Given the description of an element on the screen output the (x, y) to click on. 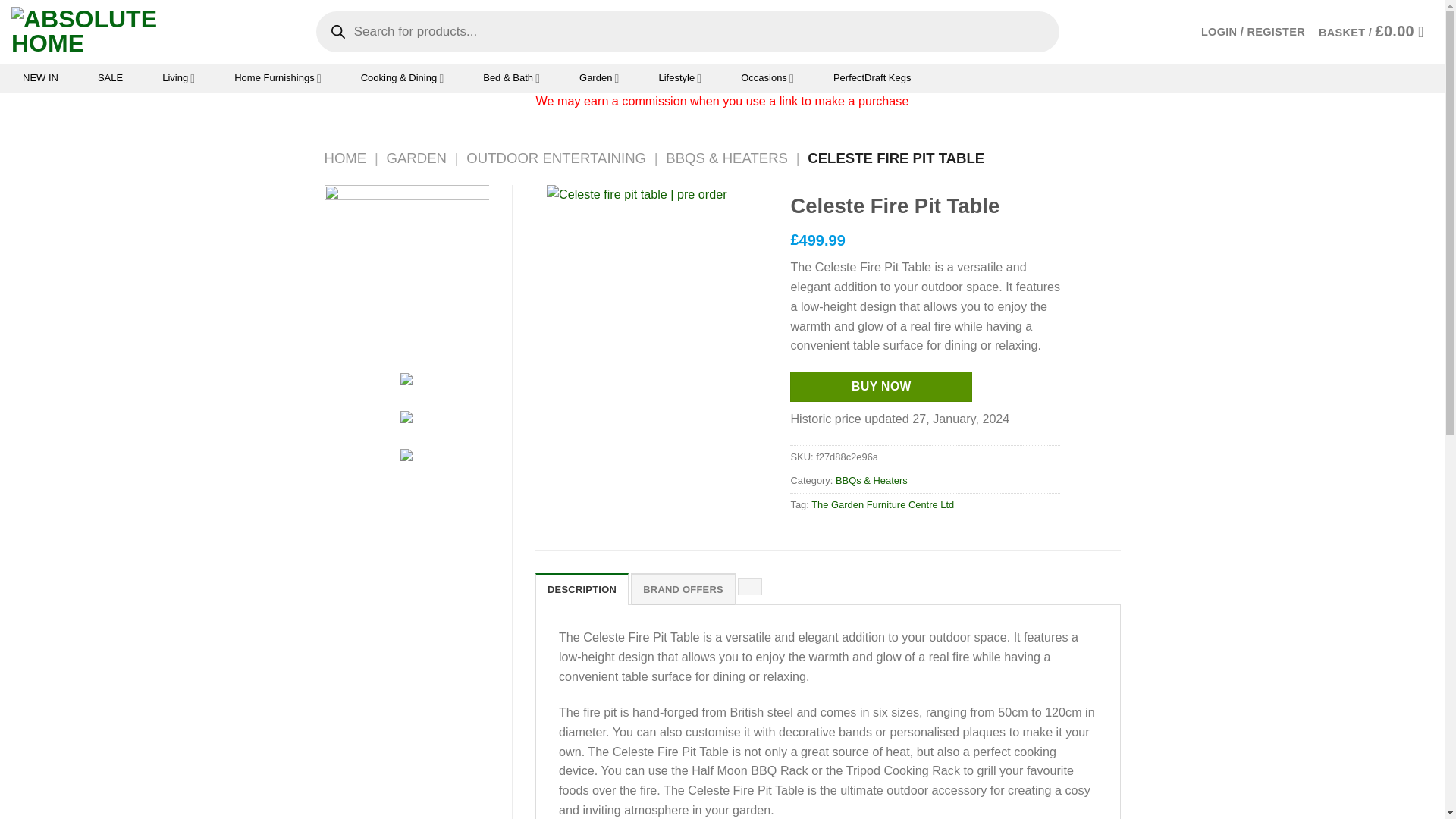
Celeste fire pit table (657, 268)
Login (1252, 31)
SALE (109, 77)
Basket (1375, 31)
Absolute Home (91, 31)
NEW IN (40, 77)
Living (178, 77)
